Given the description of an element on the screen output the (x, y) to click on. 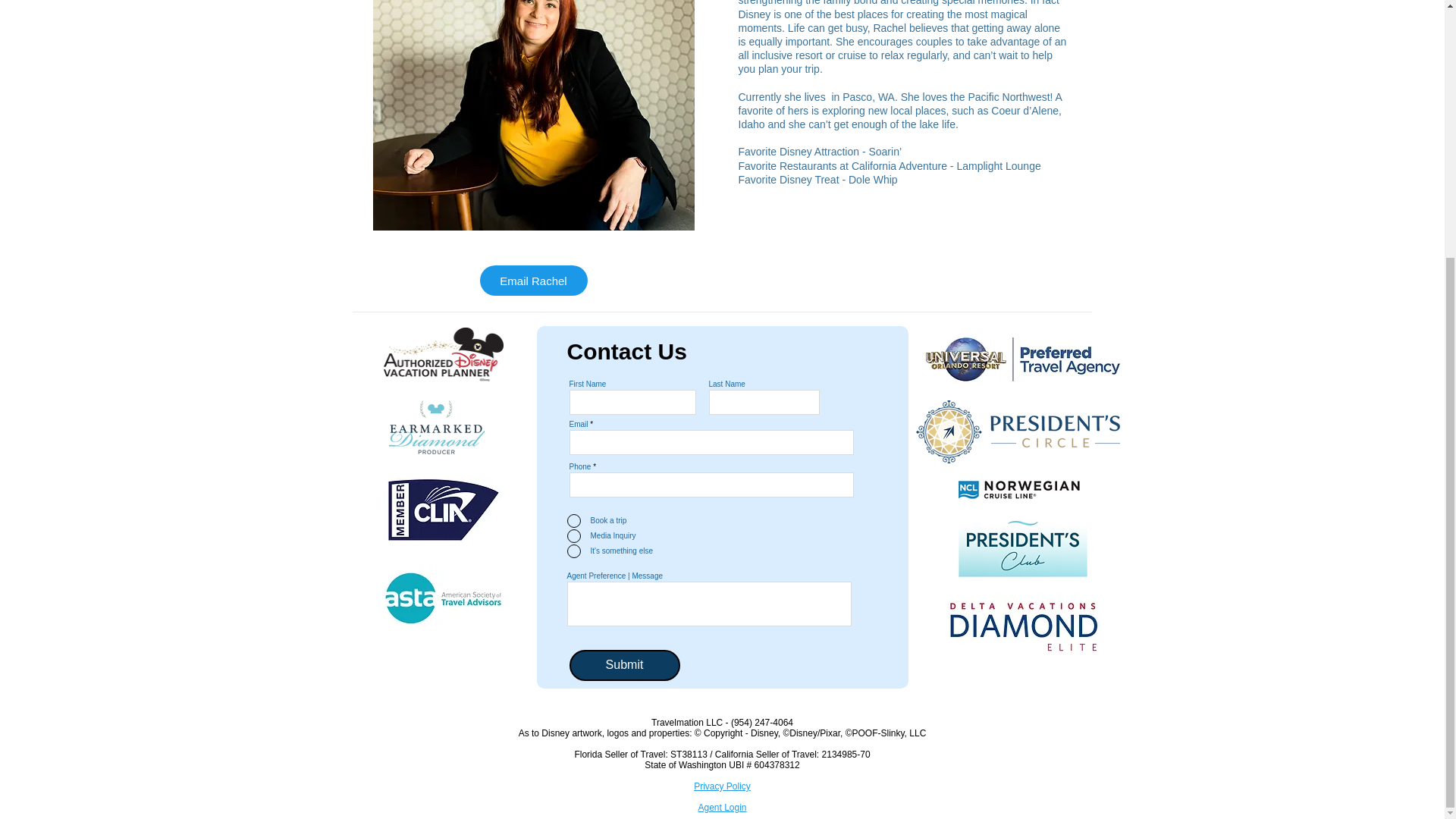
Submit (624, 665)
Email Rachel (532, 280)
Privacy Policy (722, 786)
Agent Login (721, 807)
